Given the description of an element on the screen output the (x, y) to click on. 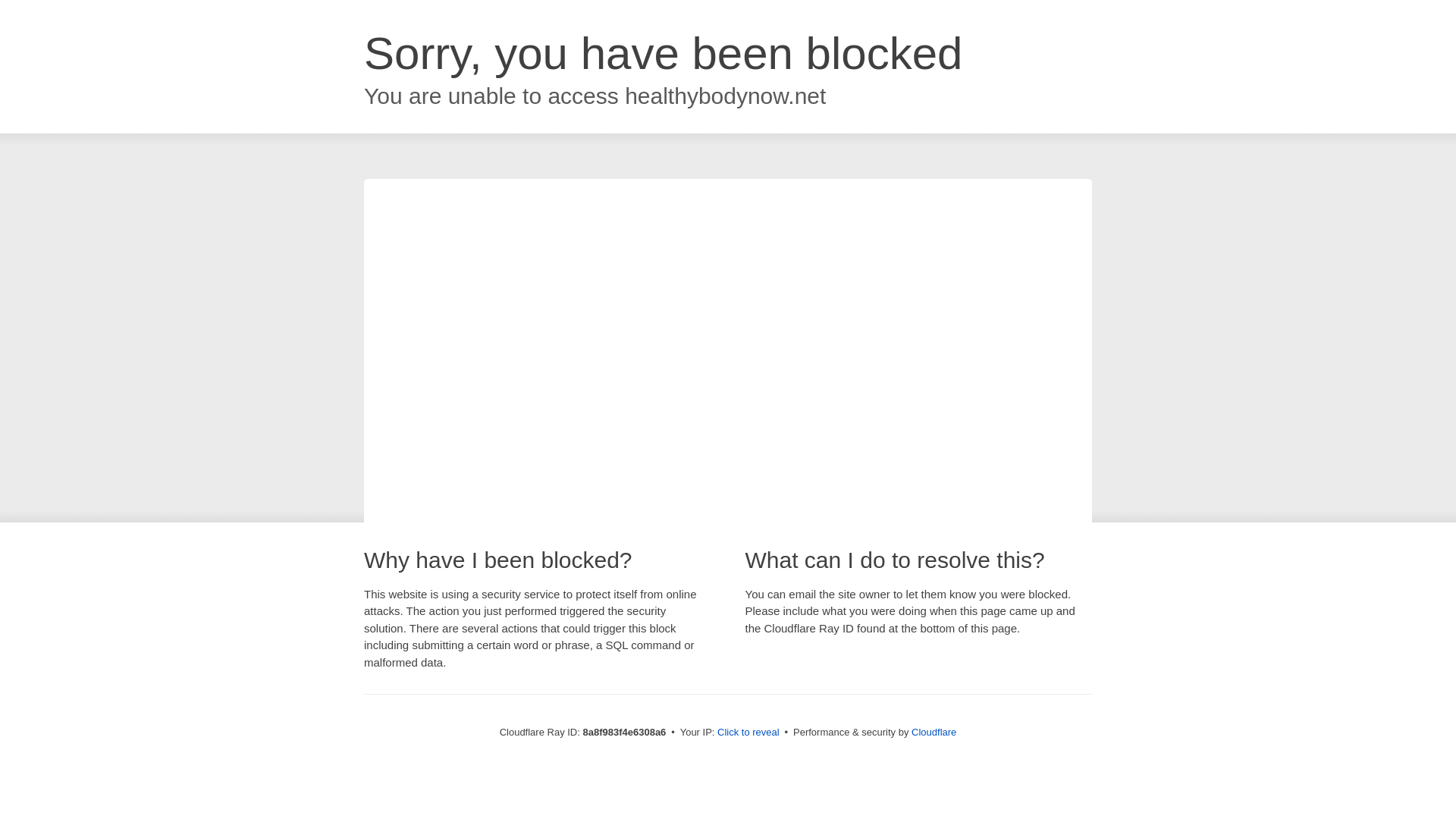
Click to reveal (747, 732)
Cloudflare (933, 731)
